Given the description of an element on the screen output the (x, y) to click on. 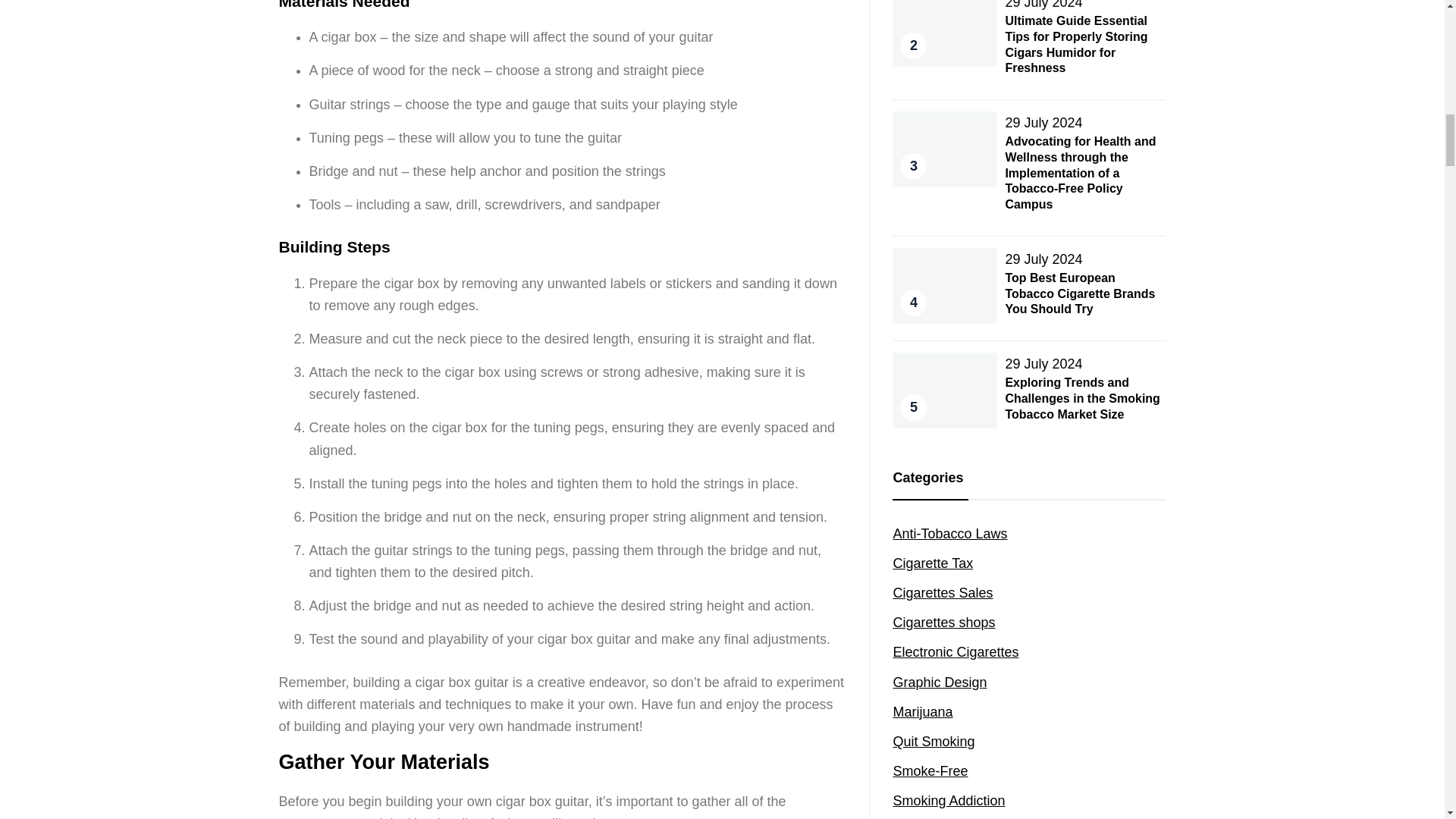
Top Best European Tobacco Cigarette Brands You Should Try (1079, 293)
29 July 2024 (1042, 122)
29 July 2024 (1042, 4)
29 July 2024 (1042, 258)
